Given the description of an element on the screen output the (x, y) to click on. 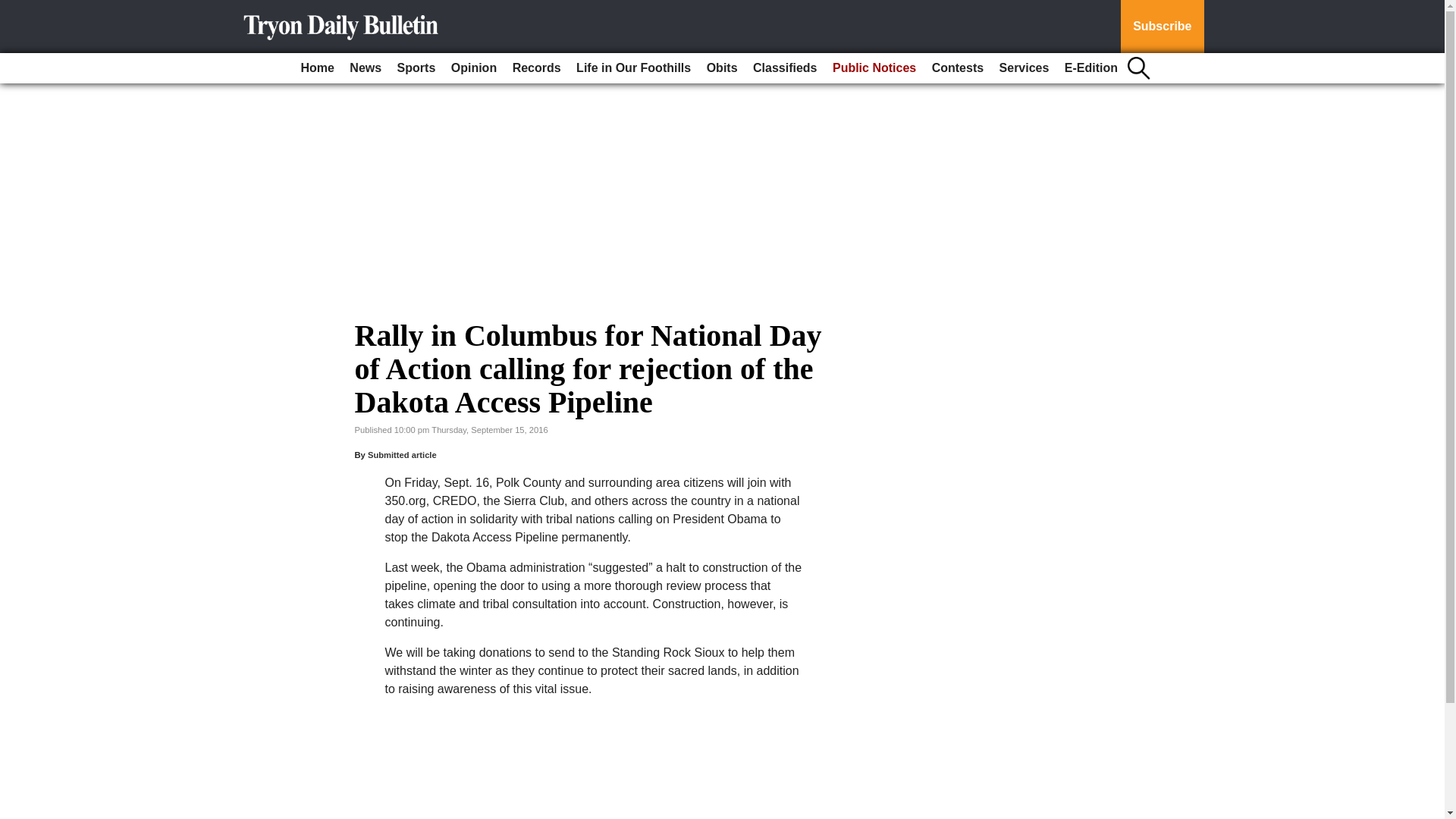
Classifieds (784, 68)
Home (316, 68)
Sports (416, 68)
Subscribe (1162, 26)
Contests (958, 68)
Services (1023, 68)
Go (13, 9)
Life in Our Foothills (633, 68)
Obits (722, 68)
Public Notices (874, 68)
E-Edition (1091, 68)
Submitted article (402, 454)
News (365, 68)
Records (536, 68)
Opinion (473, 68)
